Given the description of an element on the screen output the (x, y) to click on. 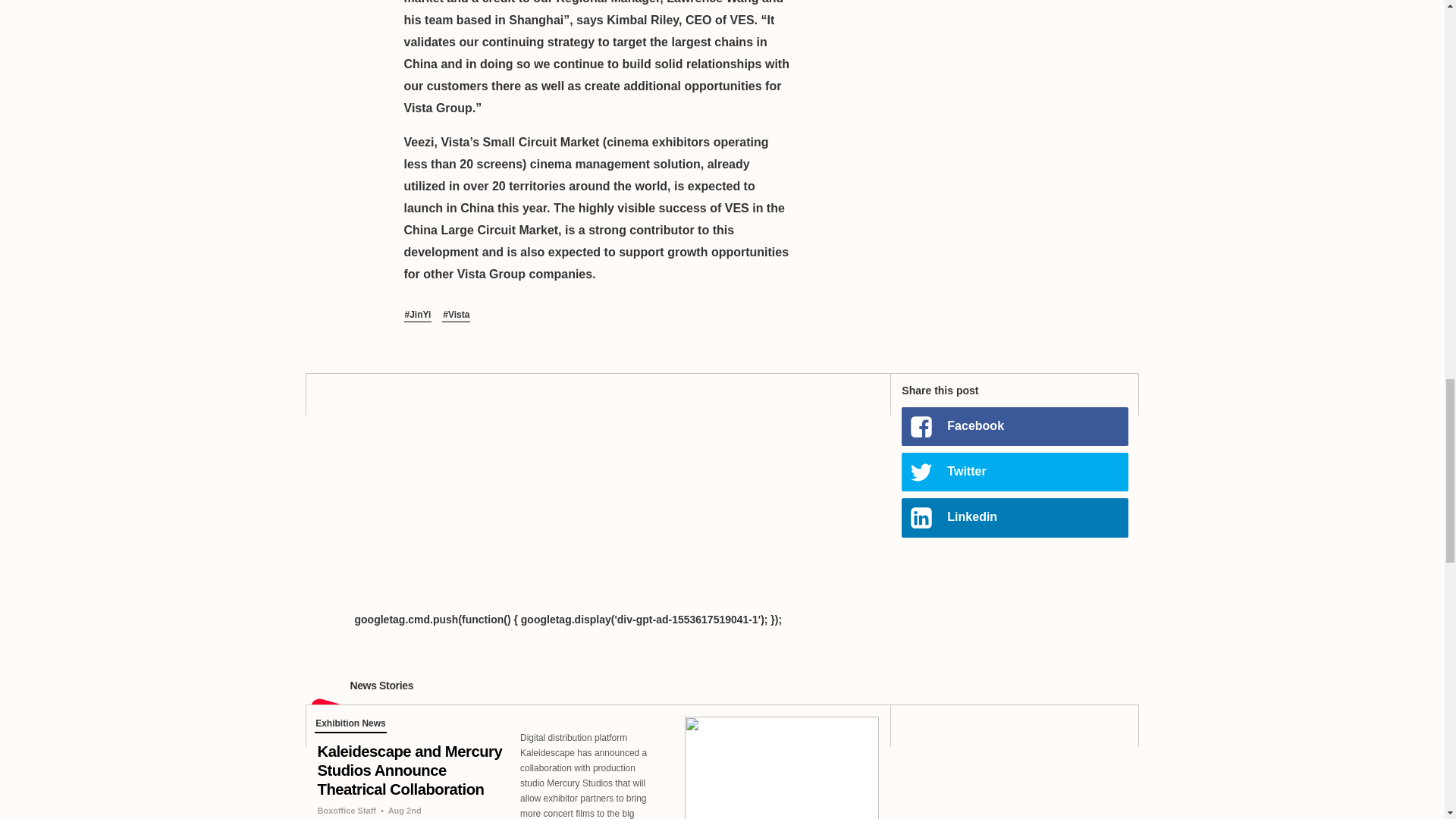
Linkedin (1013, 517)
Exhibition News (349, 725)
Facebook (1013, 426)
Vista (456, 315)
Twitter (1013, 471)
JinYi (416, 315)
